Given the description of an element on the screen output the (x, y) to click on. 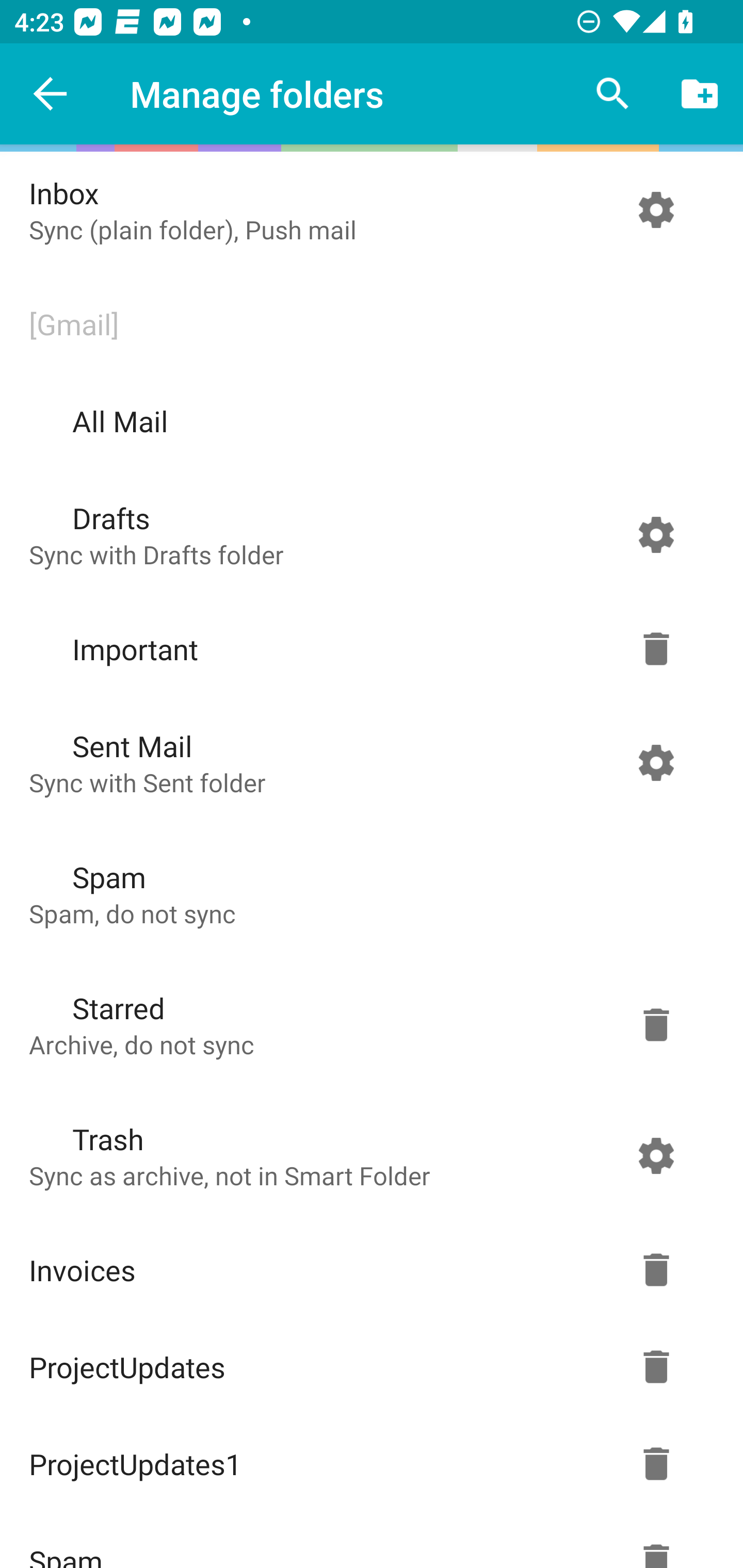
Navigate up (50, 93)
Search folders (612, 93)
Create folder (699, 93)
Folder settings (655, 209)
All Mail (367, 420)
Drafts Sync with Drafts folder Folder settings (367, 534)
Folder settings (655, 534)
Important Folder settings (367, 648)
Folder settings (655, 648)
Sent Mail Sync with Sent folder Folder settings (367, 762)
Folder settings (655, 762)
Spam Spam, do not sync (367, 893)
Starred Archive, do not sync Folder settings (367, 1024)
Folder settings (655, 1024)
Folder settings (655, 1155)
Invoices Folder settings (367, 1269)
Folder settings (655, 1269)
ProjectUpdates Folder settings (367, 1366)
Folder settings (655, 1366)
ProjectUpdates1 Folder settings (367, 1463)
Folder settings (655, 1463)
